Given the description of an element on the screen output the (x, y) to click on. 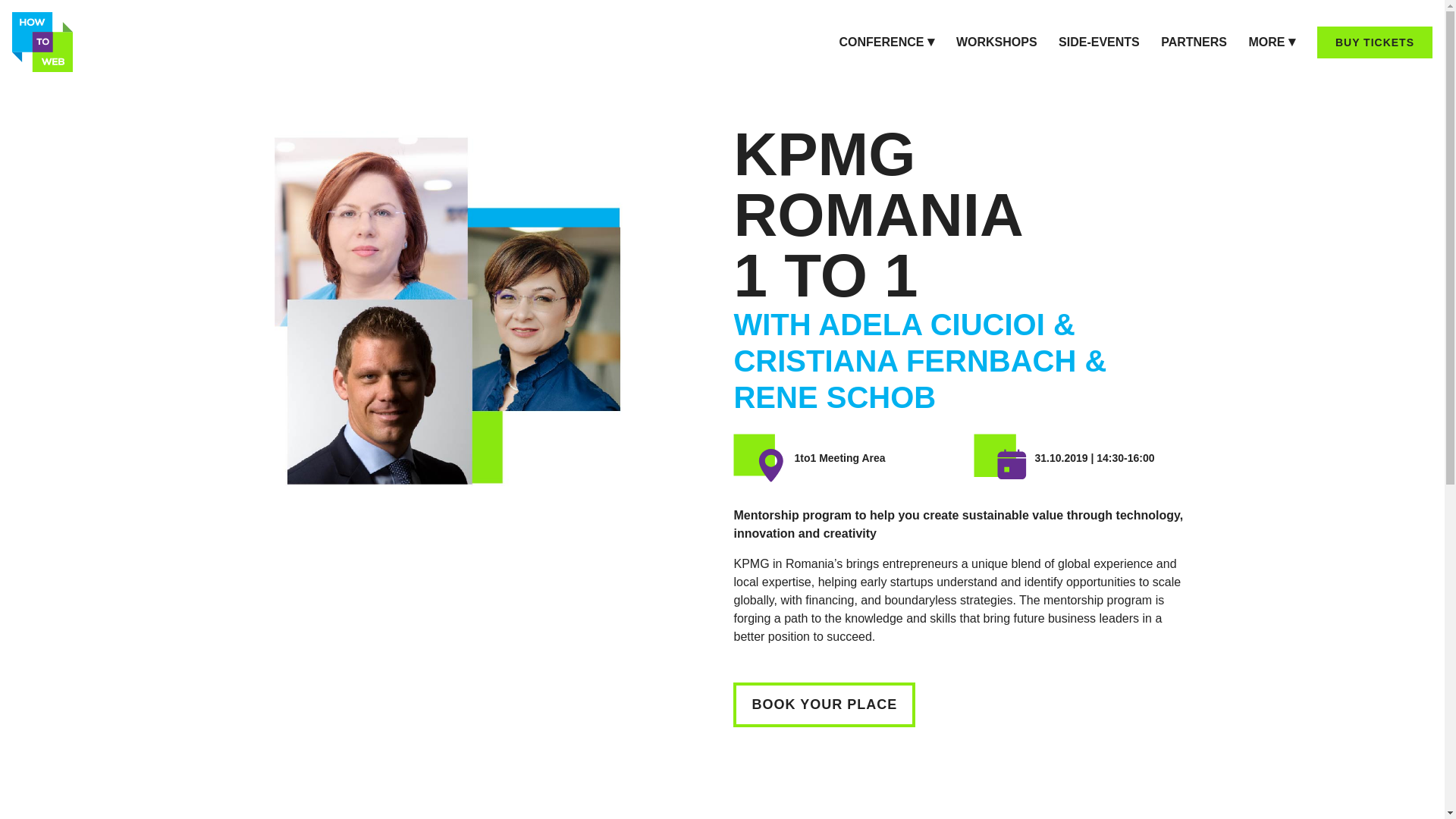
CONFERENCE (886, 42)
PARTNERS (1193, 42)
WORKSHOPS (996, 42)
BOOK YOUR PLACE (824, 704)
SIDE-EVENTS (1099, 42)
BUY TICKETS (1374, 42)
MORE (1271, 42)
